Given the description of an element on the screen output the (x, y) to click on. 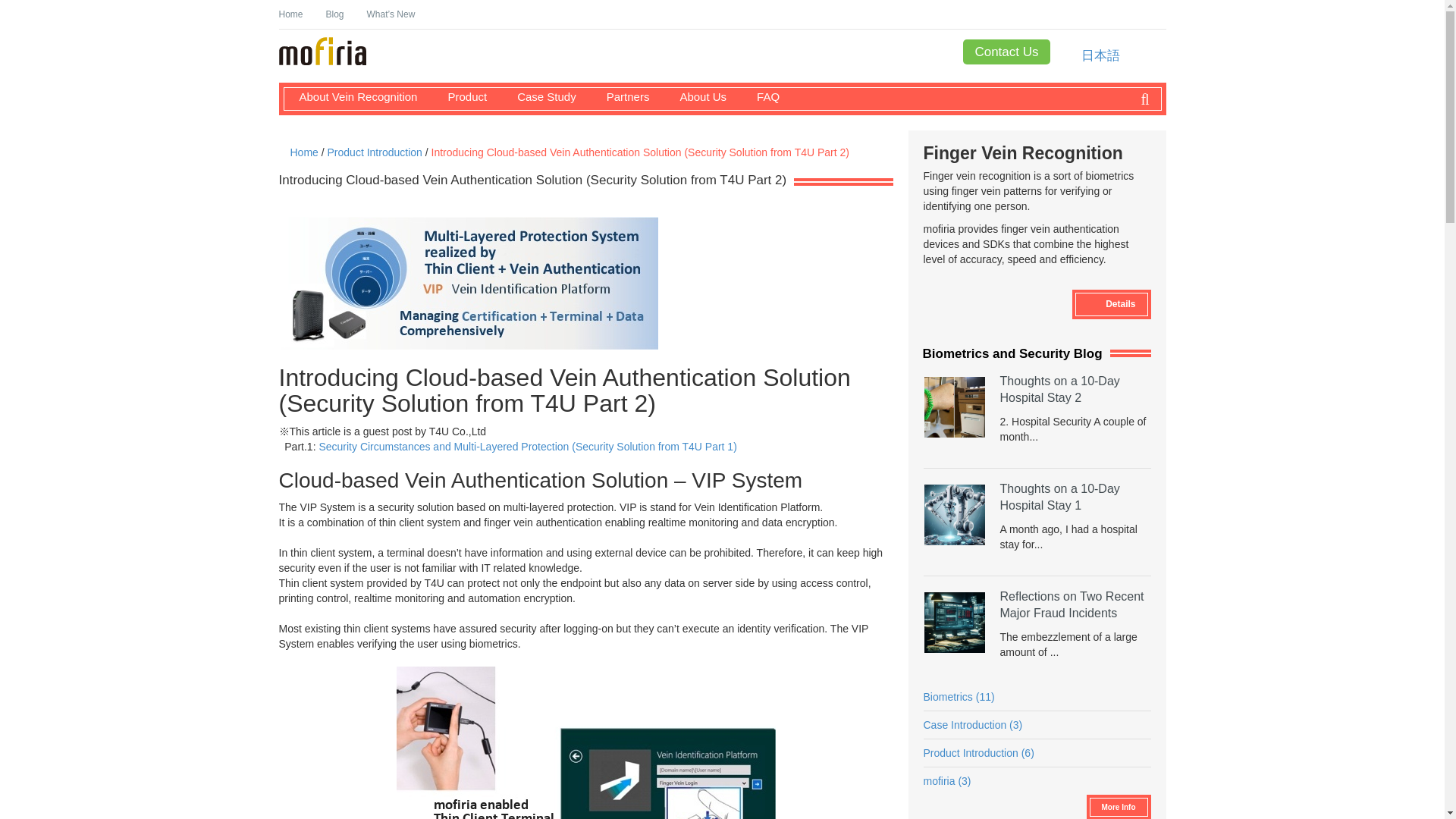
Blog (334, 14)
FAQ (759, 95)
About Us (694, 95)
Contact Us (1005, 51)
Home (290, 14)
Case Study (539, 95)
Product (459, 95)
About Vein Recognition (349, 95)
Partners (620, 95)
